Given the description of an element on the screen output the (x, y) to click on. 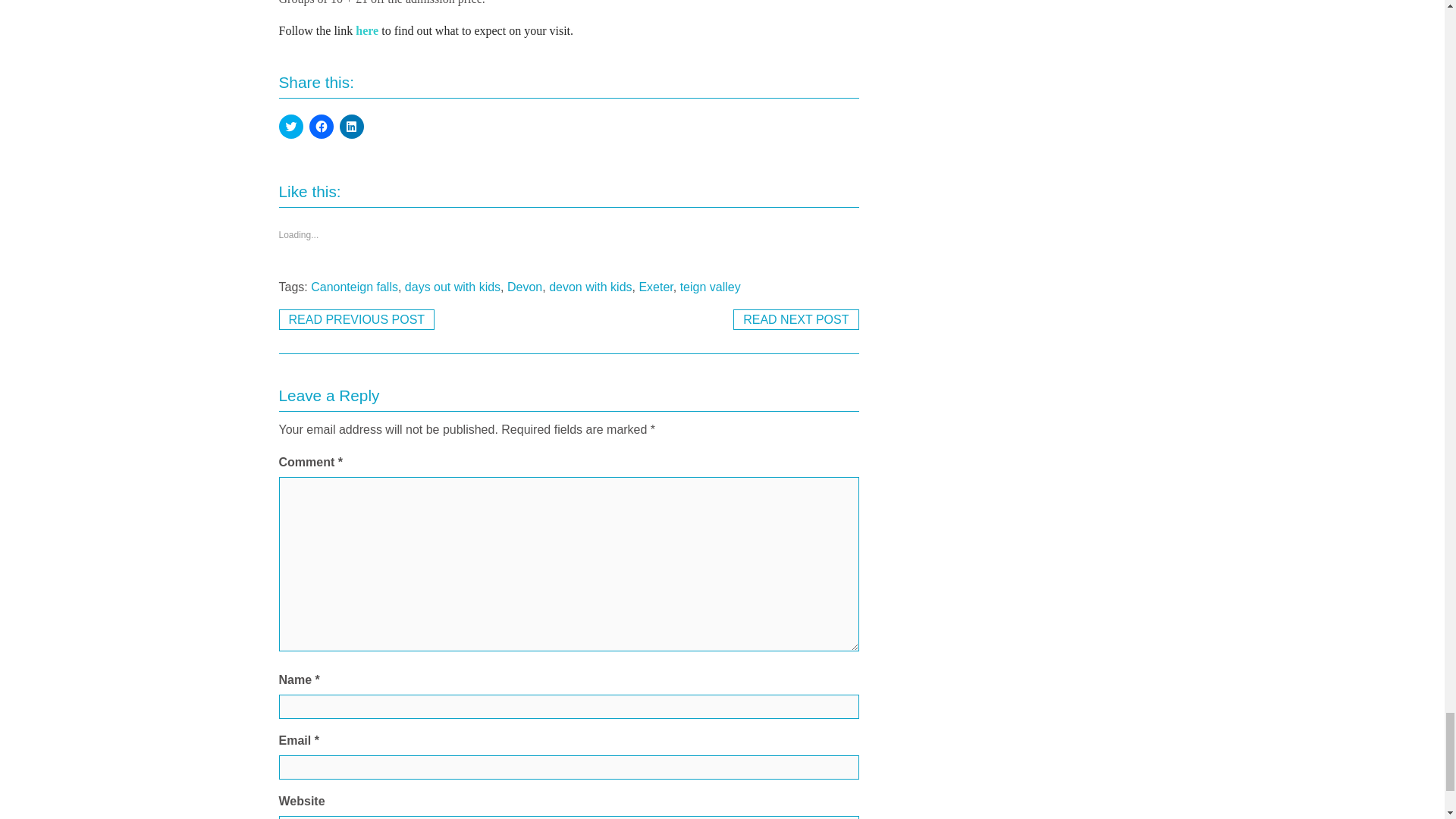
Click to share on LinkedIn (351, 126)
Click to share on Facebook (320, 126)
Click to share on Twitter (290, 126)
Exeter lockdown doorstep Photography: Rosa and Jake (796, 319)
